Given the description of an element on the screen output the (x, y) to click on. 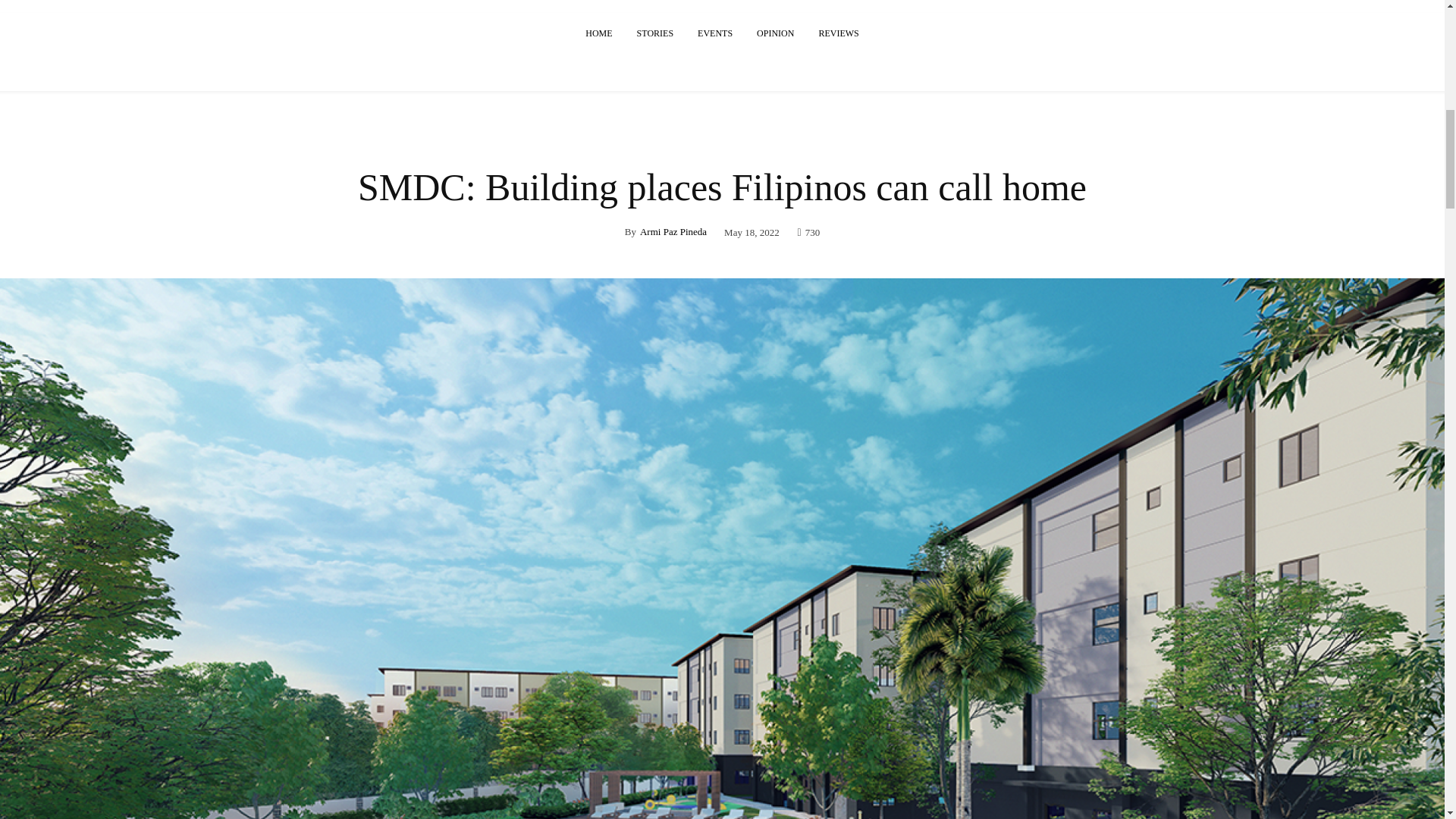
OPINION (775, 33)
Armi Paz Pineda (673, 231)
HOME (598, 33)
STORIES (654, 33)
EVENTS (714, 33)
REVIEWS (838, 33)
